Given the description of an element on the screen output the (x, y) to click on. 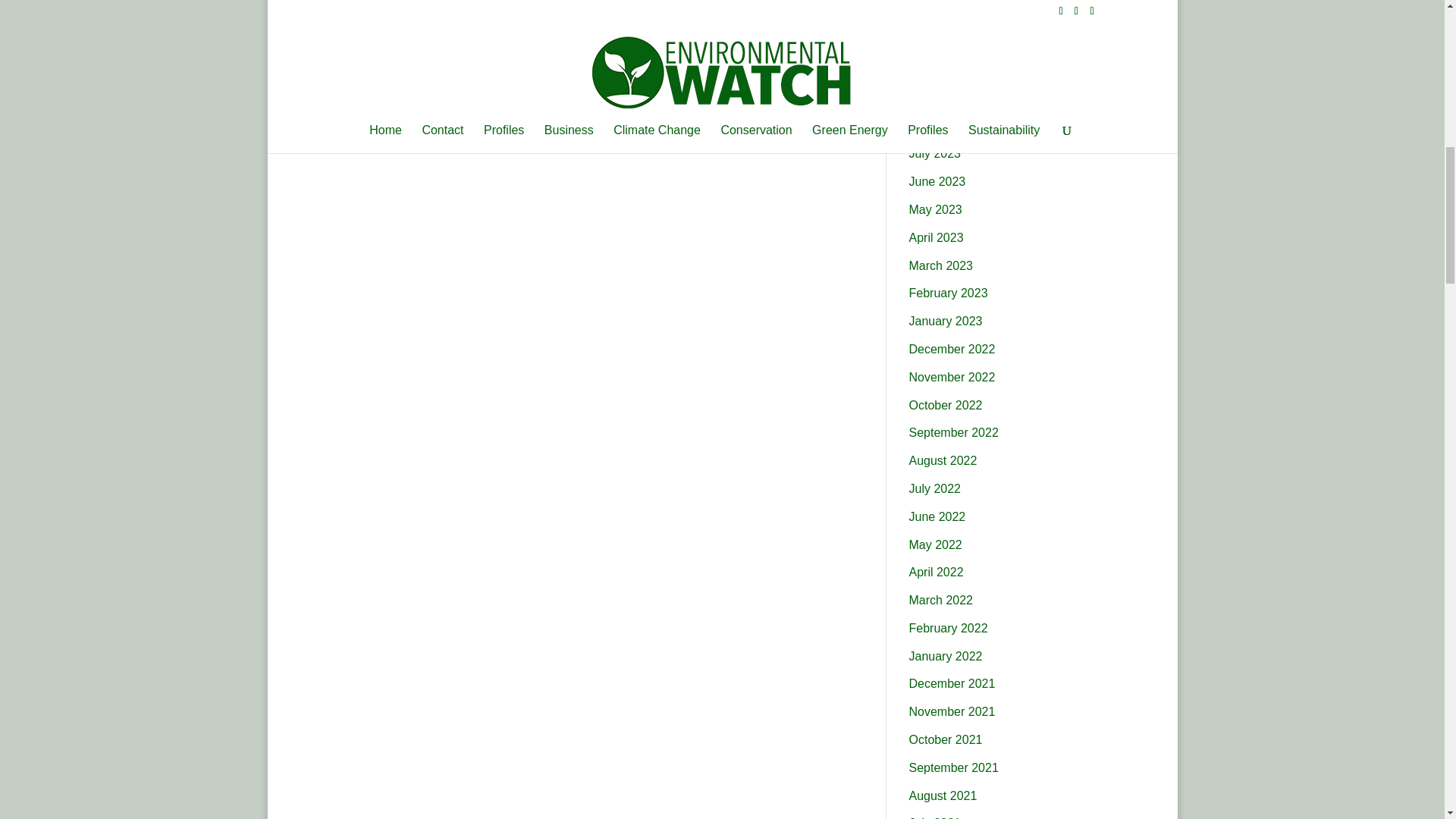
August 2023 (942, 125)
September 2022 (952, 431)
May 2023 (934, 209)
July 2022 (934, 488)
July 2023 (934, 153)
November 2022 (951, 377)
December 2022 (951, 349)
August 2022 (942, 460)
September 2023 (952, 97)
January 2023 (944, 320)
